Given the description of an element on the screen output the (x, y) to click on. 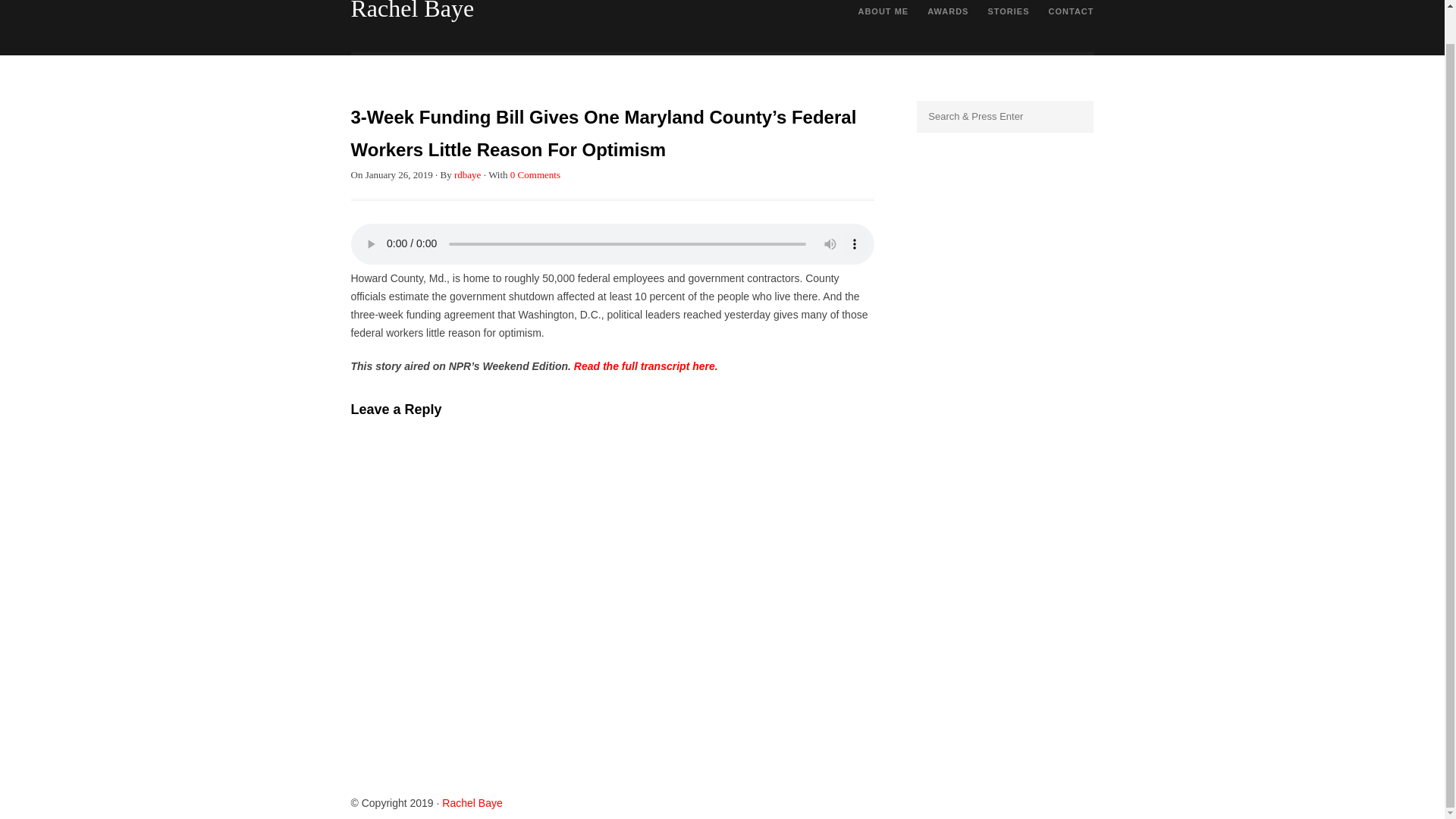
Posts by rdbaye (467, 174)
STORIES (1008, 14)
ABOUT ME (882, 14)
Rachel Baye (412, 11)
Rachel Baye (472, 802)
AWARDS (947, 14)
rdbaye (467, 174)
Rachel Baye (472, 802)
CONTACT (1071, 14)
0 Comments (535, 174)
Rachel Baye (412, 11)
Read the full transcript here. (645, 366)
